Given the description of an element on the screen output the (x, y) to click on. 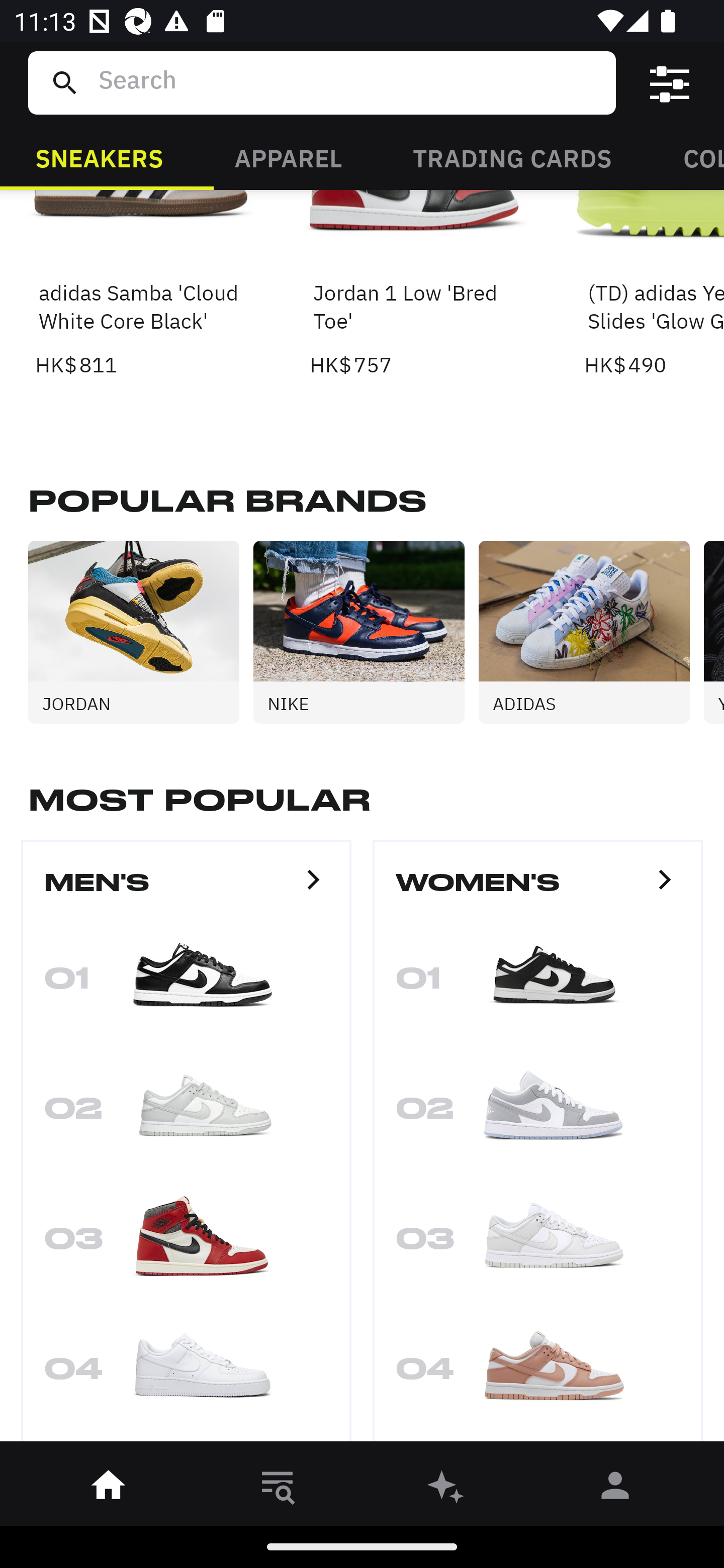
Search (349, 82)
 (669, 82)
SNEAKERS (99, 156)
APPAREL (287, 156)
TRADING CARDS (512, 156)
adidas Samba 'Cloud White Core Black' HK$ 811 (140, 285)
Jordan 1 Low 'Bred Toe' HK$ 757 (414, 285)
(TD) adidas Yeezy Slides 'Glow Green' 2022 HK$ 490 (654, 285)
JORDAN (140, 632)
NIKE (365, 632)
ADIDAS (590, 632)
MEN'S  (186, 890)
WOMEN'S  (538, 890)
01 (186, 983)
01 (538, 983)
02 (186, 1113)
02 (538, 1113)
03 (186, 1244)
03 (538, 1244)
04 (186, 1374)
04 (538, 1374)
󰋜 (108, 1488)
󱎸 (277, 1488)
󰫢 (446, 1488)
󰀄 (615, 1488)
